Given the description of an element on the screen output the (x, y) to click on. 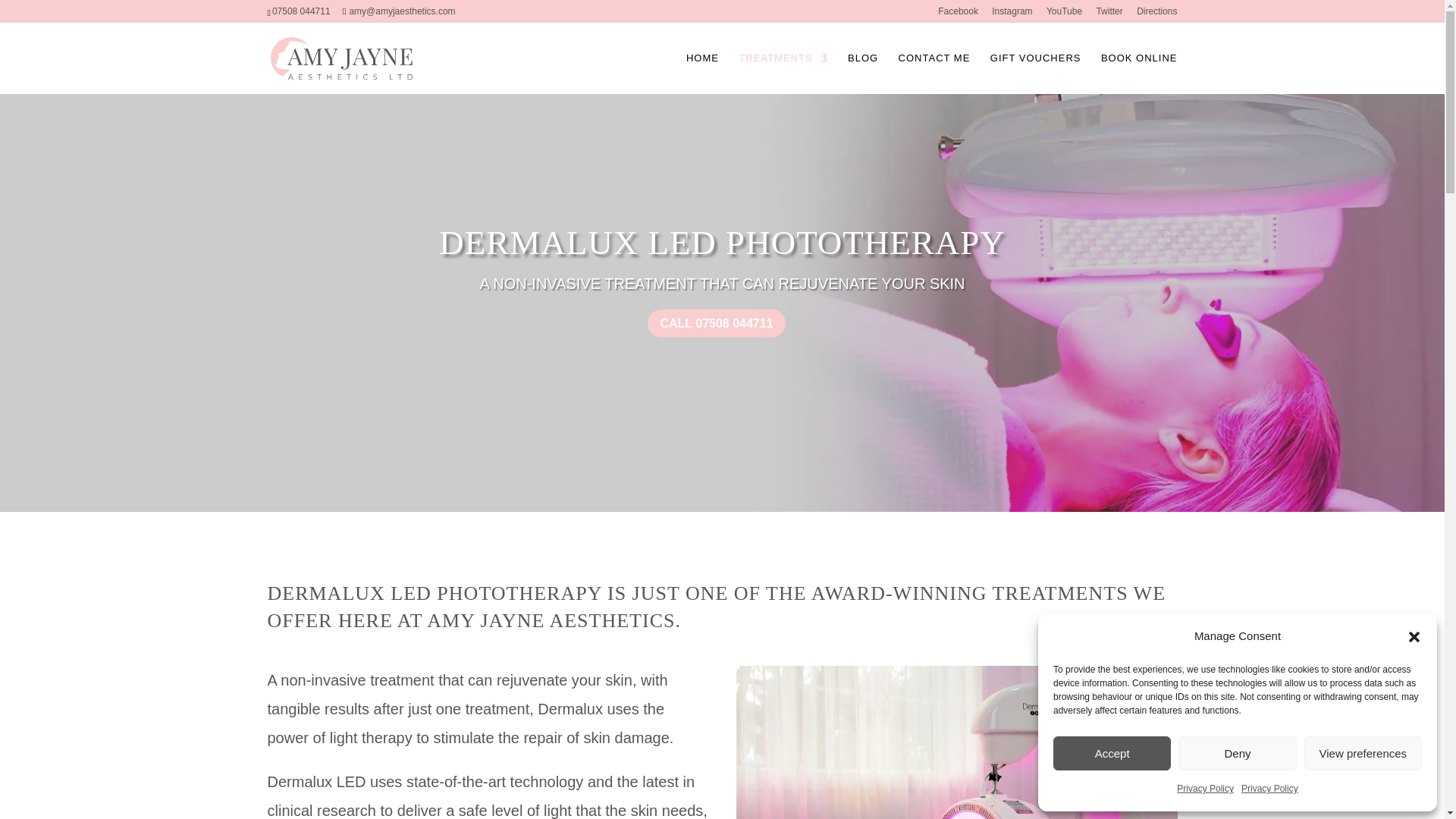
GIFT VOUCHERS (1035, 73)
Deny (1236, 753)
HOME (702, 73)
Directions (1156, 14)
Facebook (957, 14)
CONTACT ME (934, 73)
BLOG (862, 73)
TREATMENTS (782, 73)
YouTube (1063, 14)
BOOK ONLINE (1138, 73)
Twitter (1109, 14)
Privacy Policy (1269, 789)
Dermalux LED Treatment Medway Kent (955, 742)
Privacy Policy (1204, 789)
Accept (1111, 753)
